Given the description of an element on the screen output the (x, y) to click on. 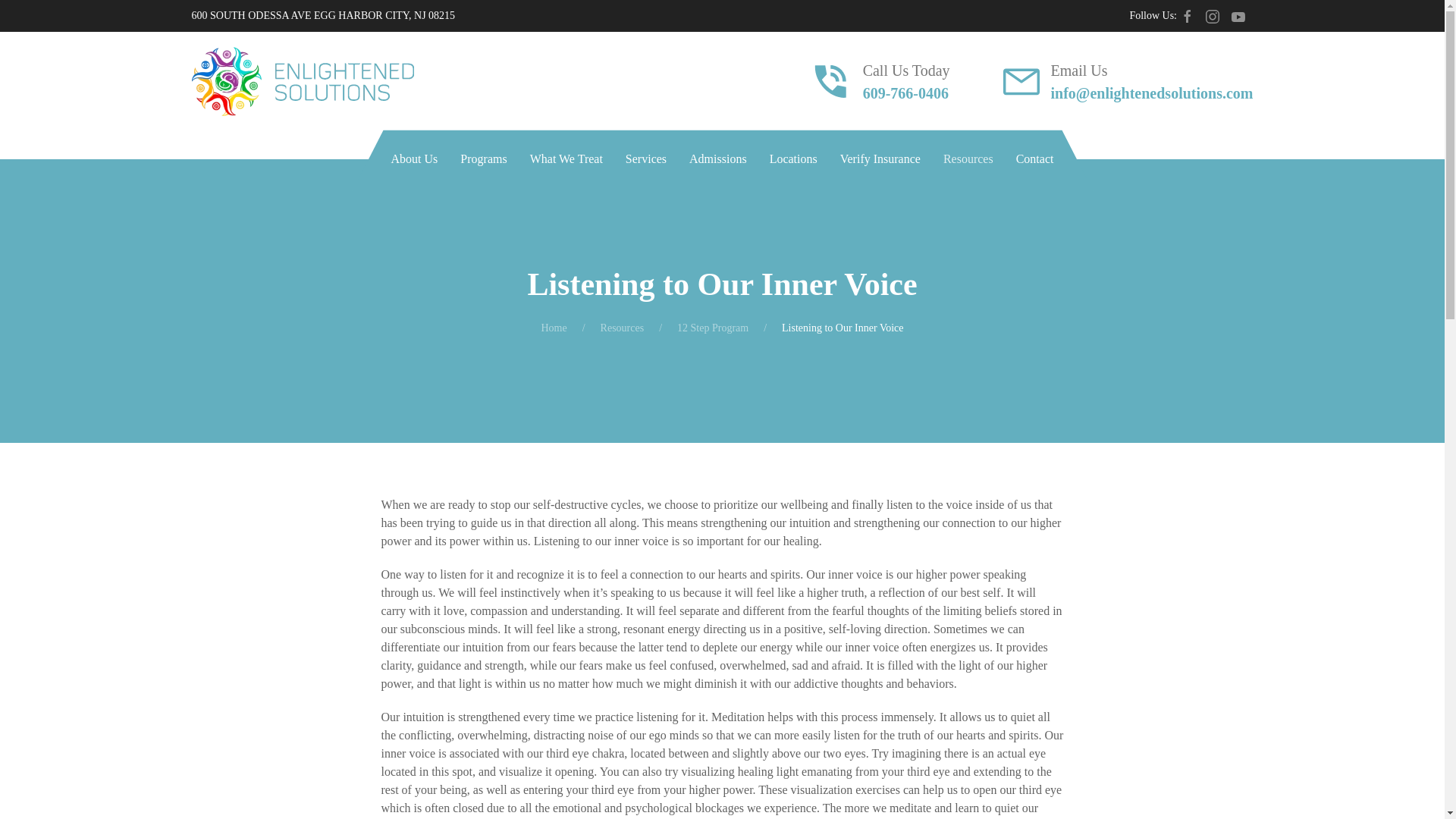
609-766-0406 (906, 93)
